Given the description of an element on the screen output the (x, y) to click on. 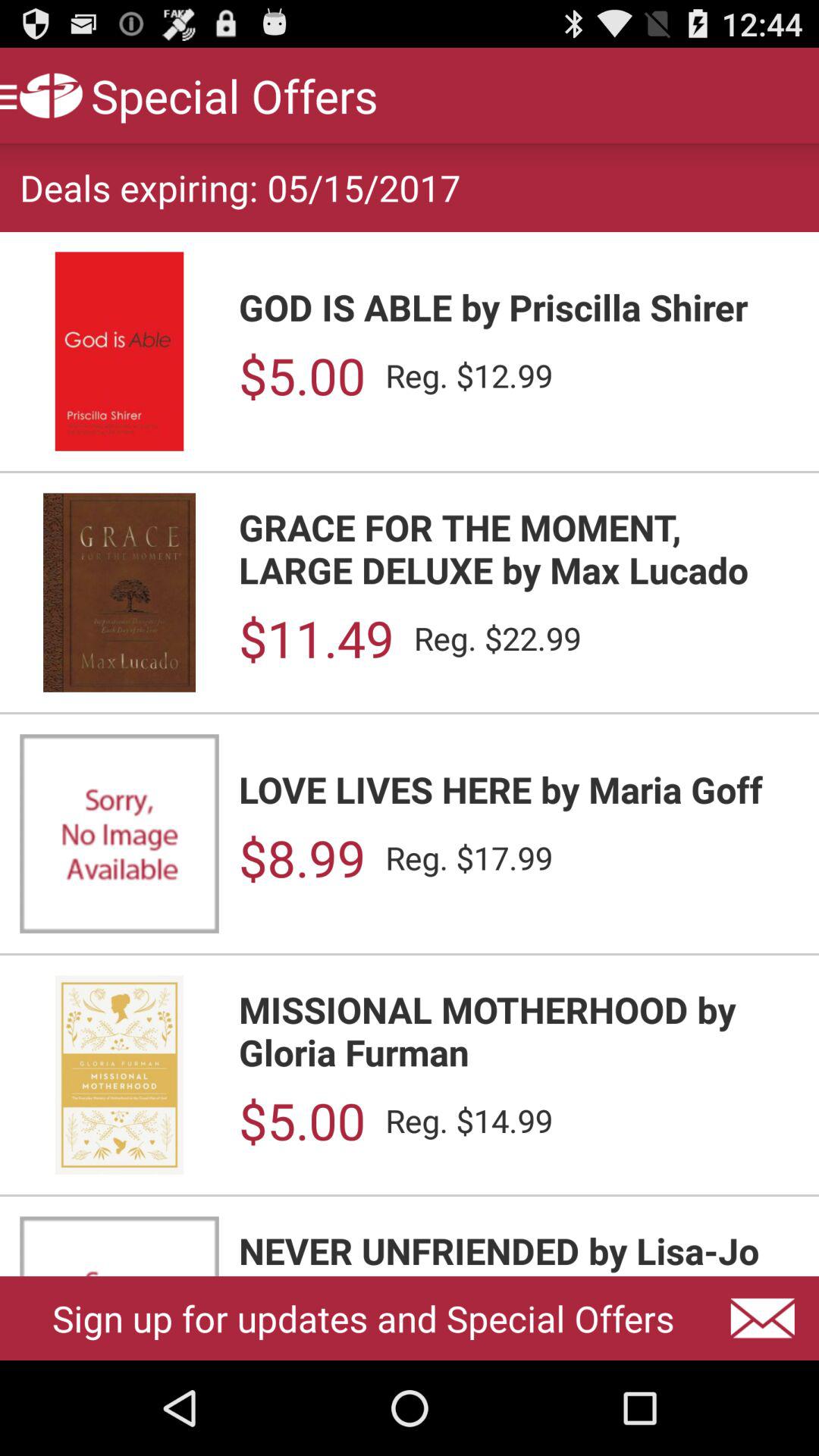
launch app to the left of the reg. $22.99 (316, 638)
